Given the description of an element on the screen output the (x, y) to click on. 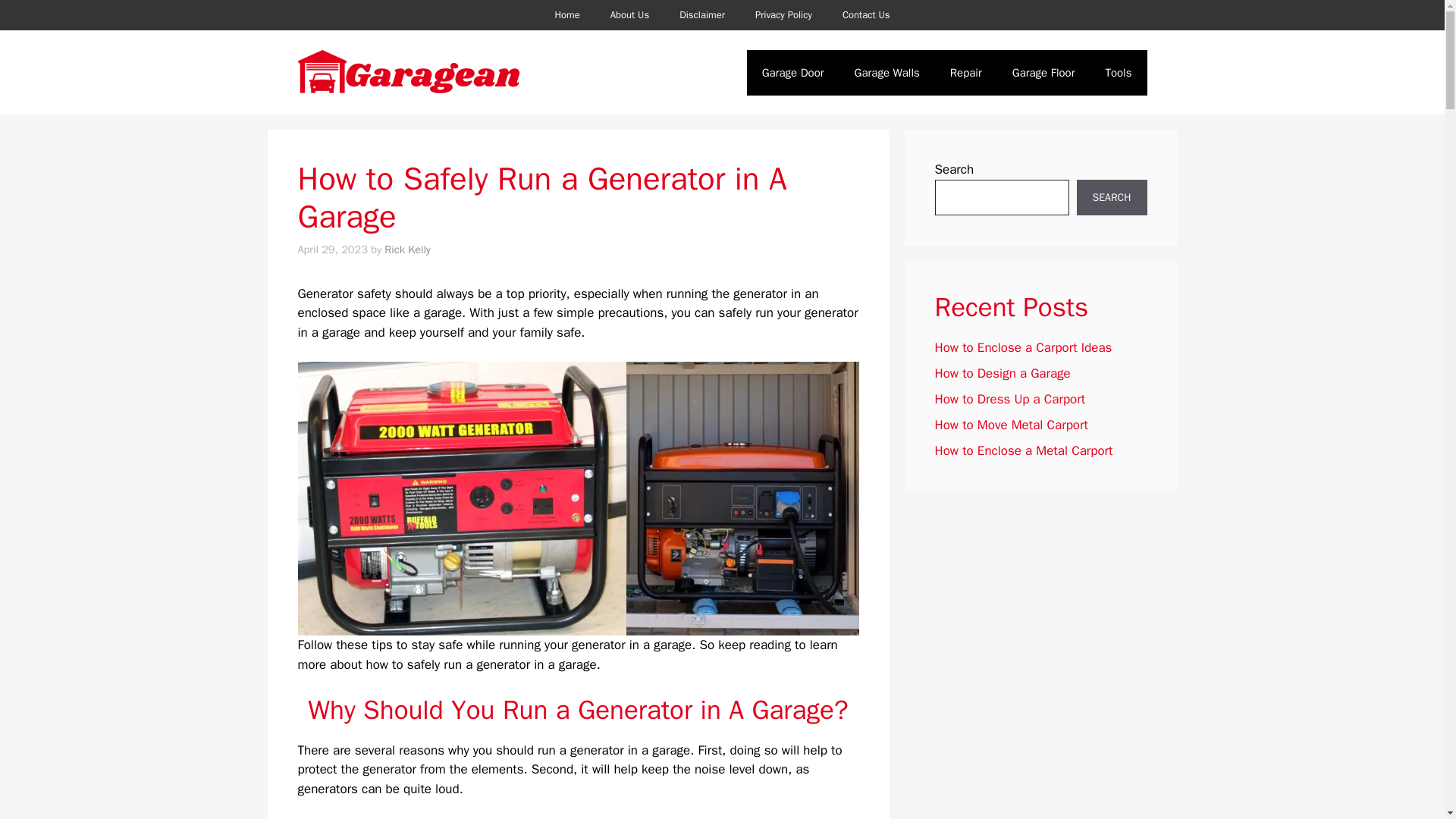
Privacy Policy (783, 15)
Home (566, 15)
Garage Door (793, 72)
Tools (1118, 72)
How to Design a Garage (1002, 373)
How to Move Metal Carport (1010, 424)
Garage Walls (887, 72)
SEARCH (1112, 197)
How to Enclose a Metal Carport (1023, 450)
How to Dress Up a Carport (1009, 399)
